Given the description of an element on the screen output the (x, y) to click on. 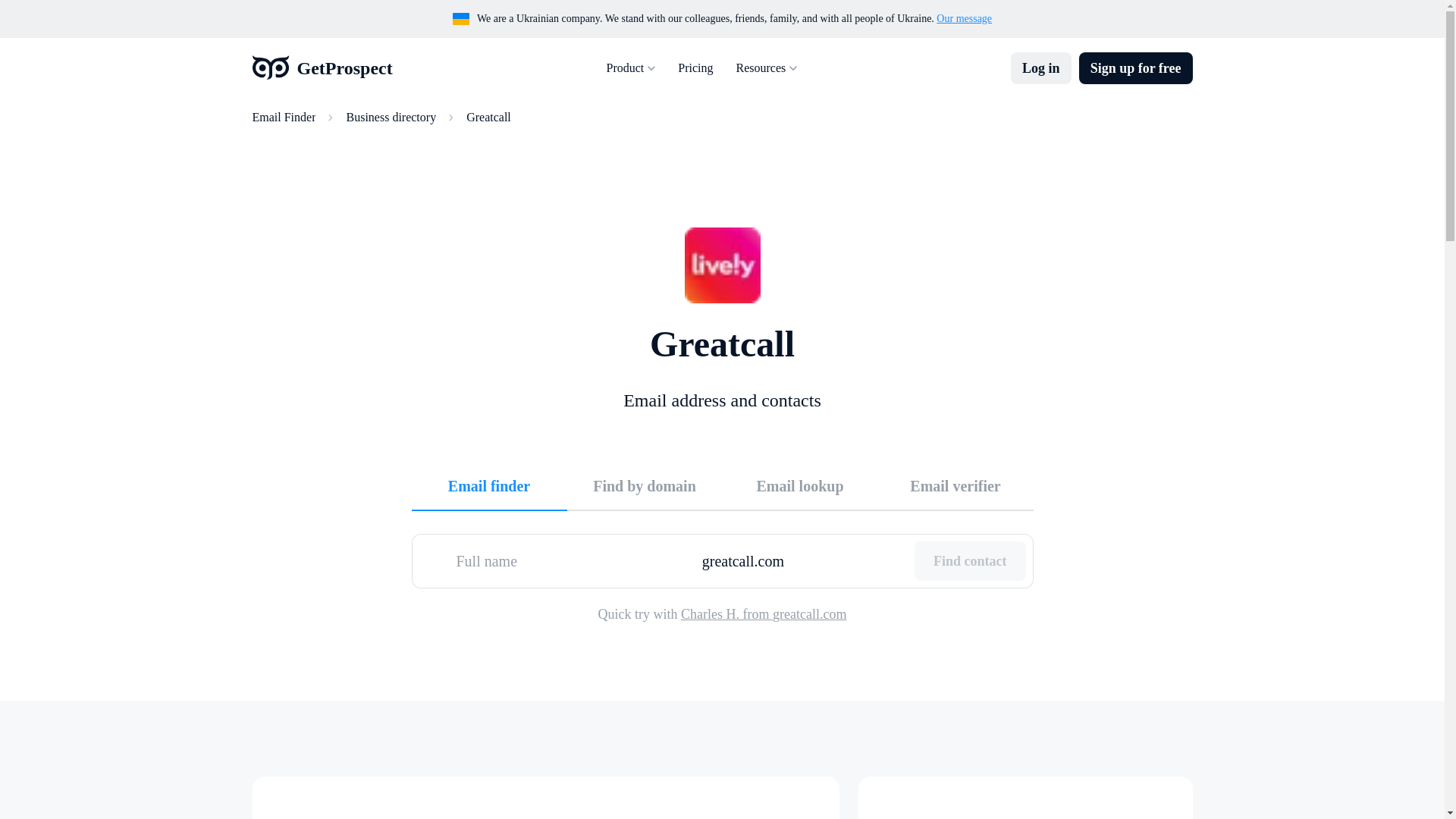
Email verifier (955, 485)
Email lookup (799, 485)
Business directory (390, 117)
greatcall.com (801, 560)
greatcall.com (801, 560)
Find contact (970, 560)
Email Finder (283, 117)
Pricing (694, 68)
Email finder (488, 485)
Find by domain (644, 485)
